Given the description of an element on the screen output the (x, y) to click on. 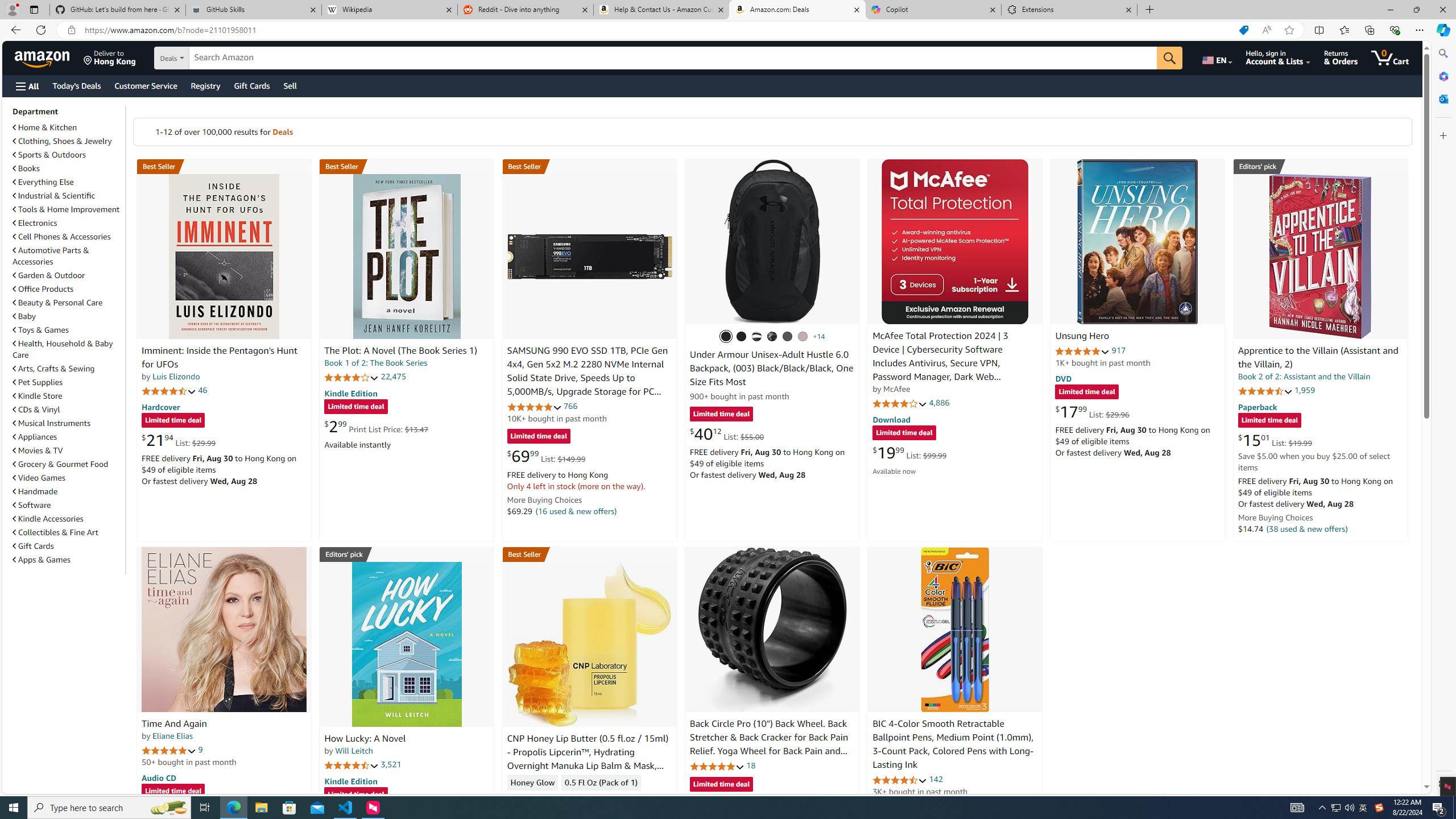
Books (67, 167)
Musical Instruments (67, 423)
Search Amazon (673, 57)
0 items in cart (1389, 57)
Grocery & Gourmet Food (67, 464)
4.6 out of 5 stars (899, 779)
Apps & Games (41, 559)
Book 1 of 2: The Book Series (376, 362)
